Given the description of an element on the screen output the (x, y) to click on. 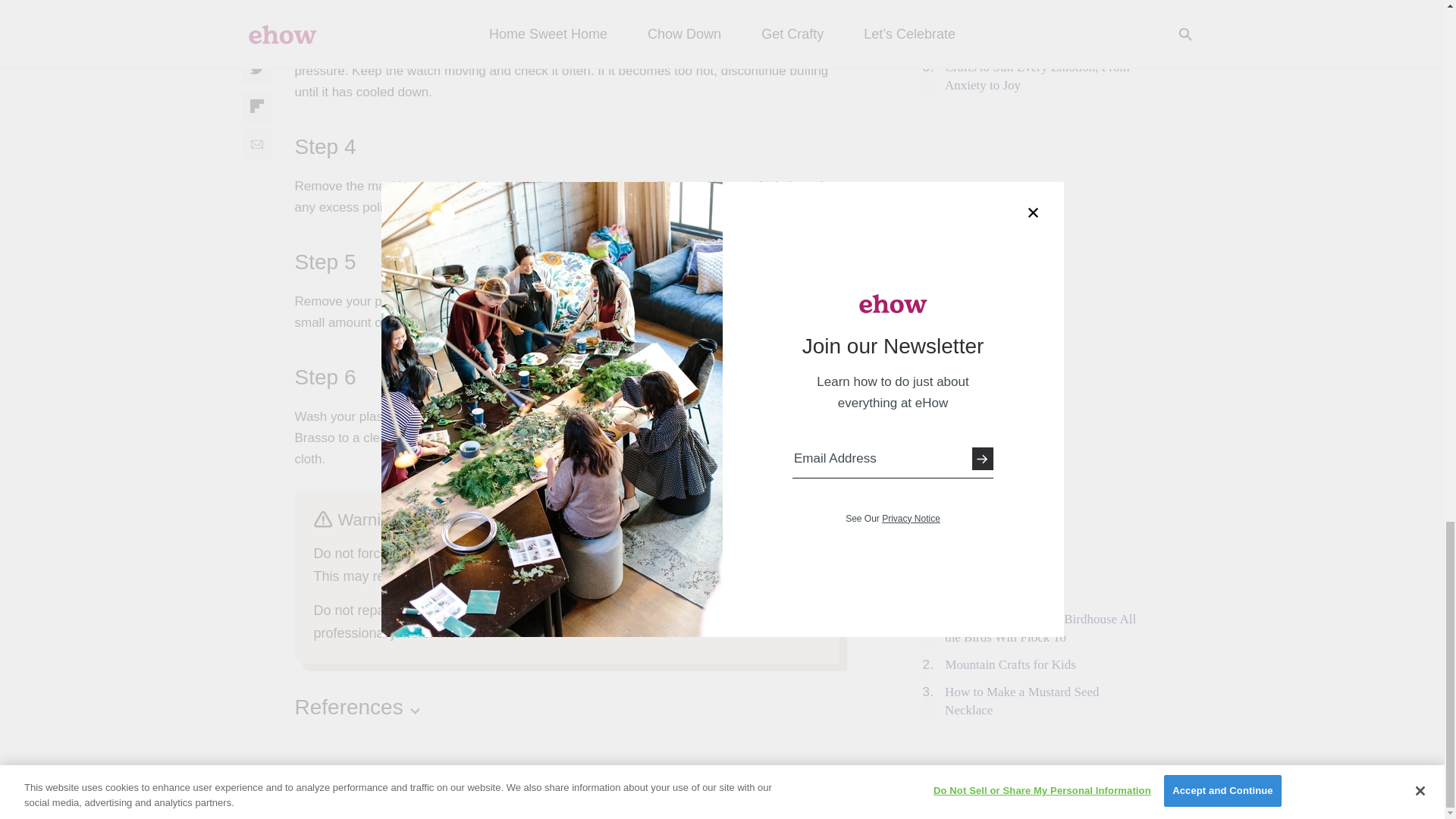
Crafts to Suit Every Emotion, From Anxiety to Joy (1036, 75)
How to Fix Ceramic Coating Scratches (1019, 30)
Mountain Crafts for Kids (1009, 664)
A Midcentury Modern Birdhouse All the Birds Will Flock To (1039, 627)
How to Make a Mustard Seed Necklace (1021, 700)
3rd party ad content (1035, 194)
